Given the description of an element on the screen output the (x, y) to click on. 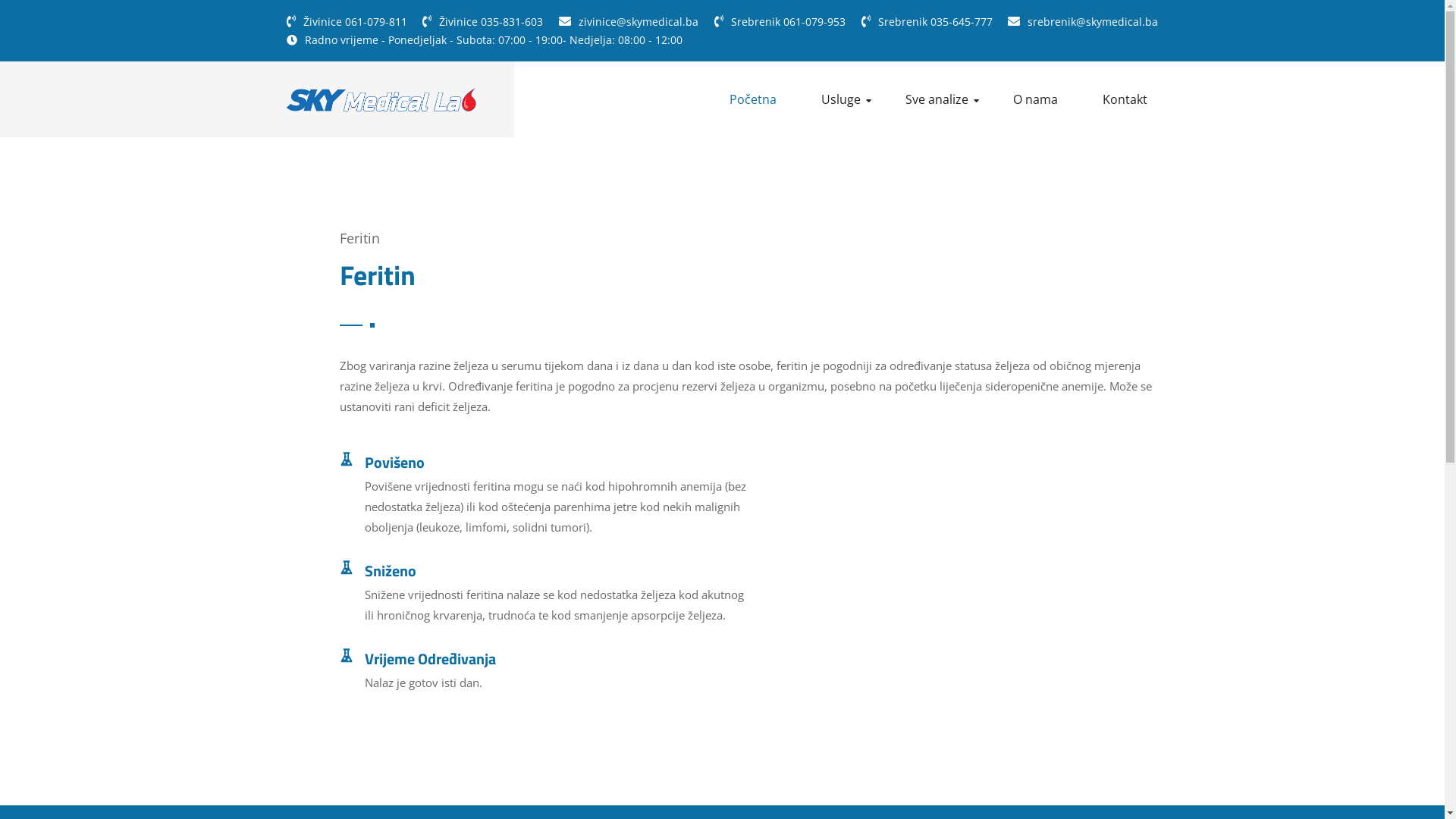
O nama Element type: text (1041, 98)
Srebrenik 061-079-953 Element type: text (788, 21)
Usluge Element type: text (845, 98)
srebrenik@skymedical.ba Element type: text (1092, 21)
Srebrenik 035-645-777 Element type: text (935, 21)
Kontakt Element type: text (1130, 98)
Sve analize Element type: text (942, 98)
zivinice@skymedical.ba Element type: text (638, 21)
